Given the description of an element on the screen output the (x, y) to click on. 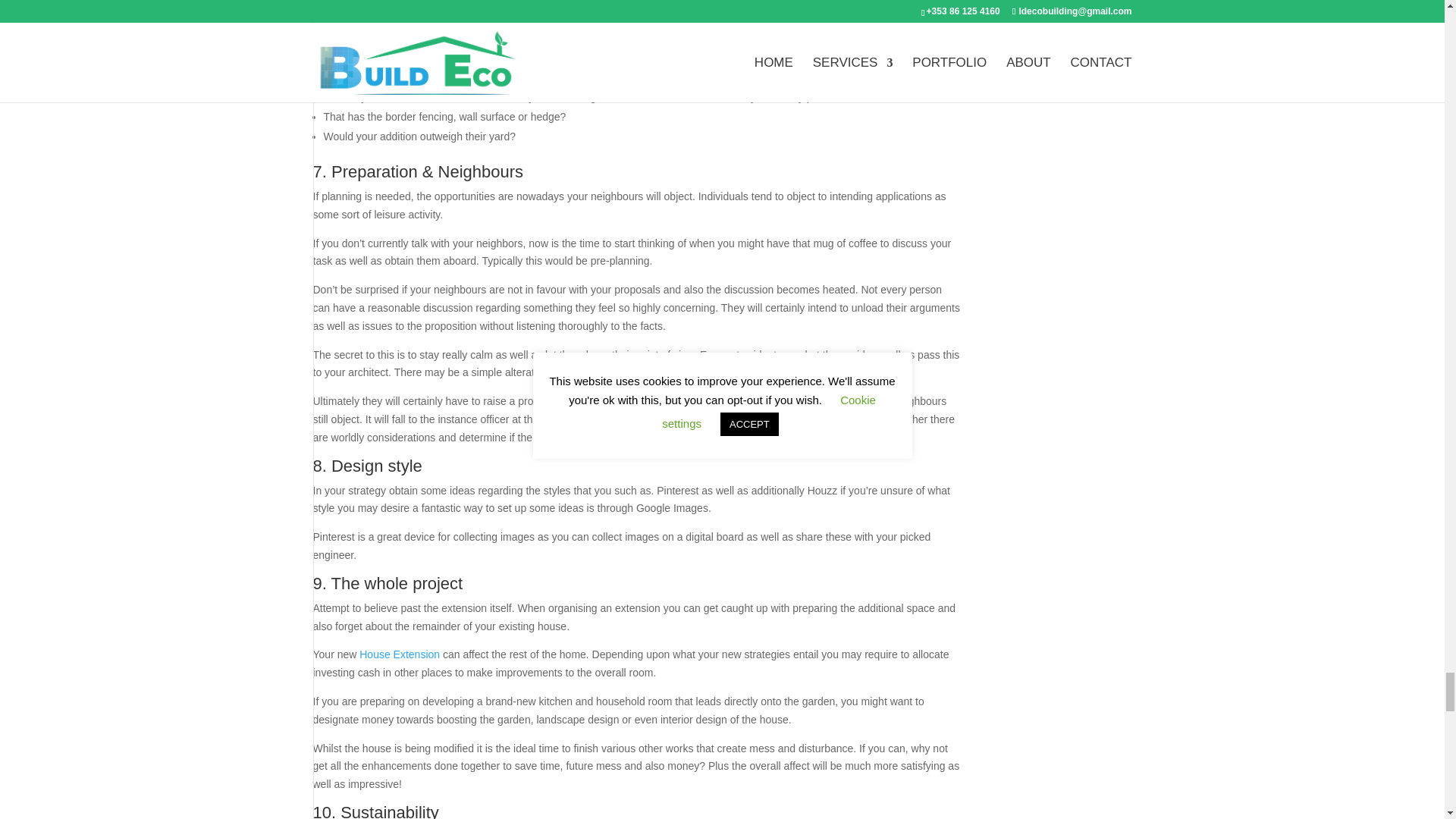
House Extension (399, 654)
